Given the description of an element on the screen output the (x, y) to click on. 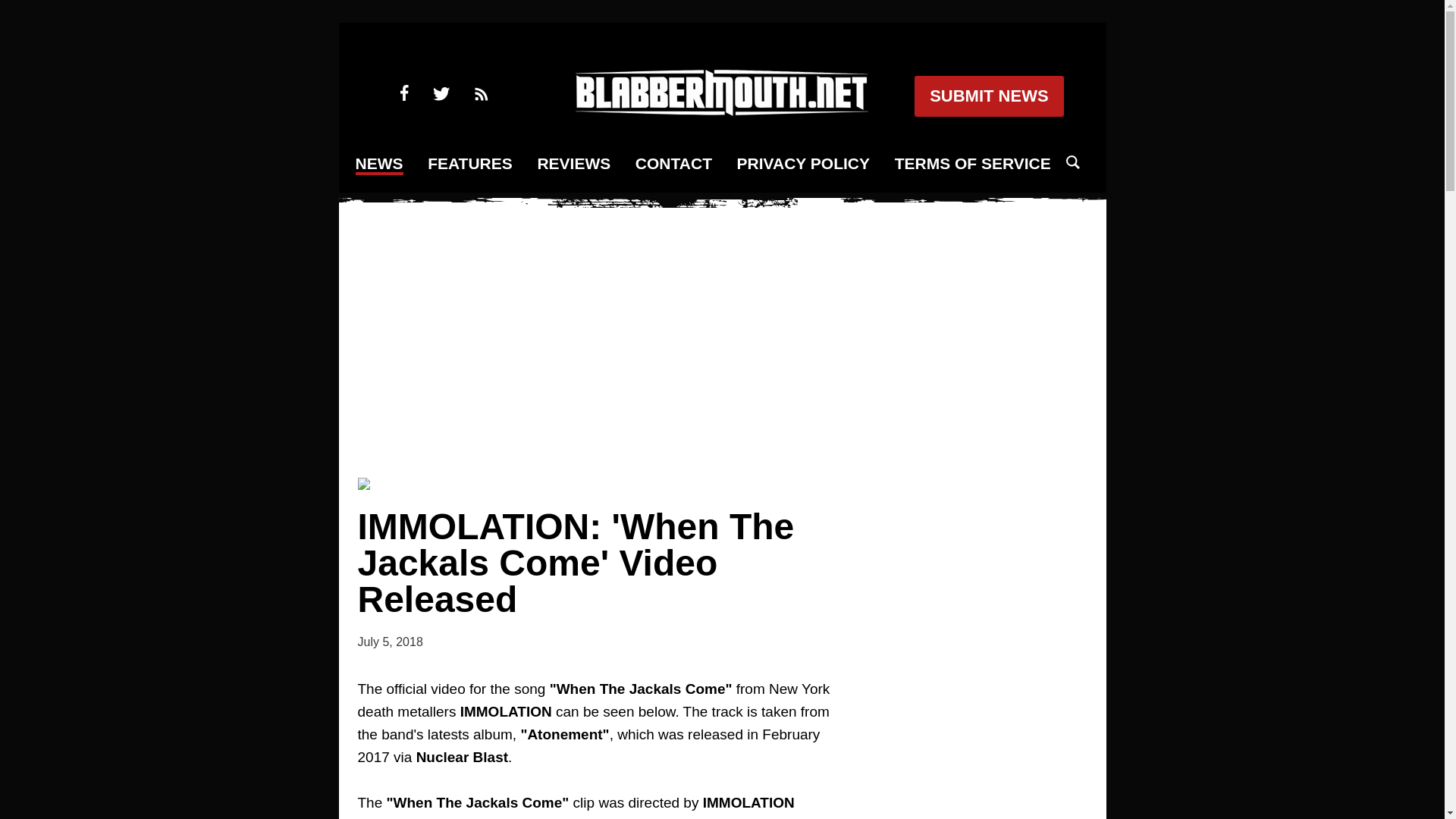
SUBMIT NEWS (988, 96)
PRIVACY POLICY (802, 163)
FEATURES (470, 163)
blabbermouth (721, 110)
TERMS OF SERVICE (973, 163)
REVIEWS (573, 163)
CONTACT (672, 163)
NEWS (379, 164)
search icon (1072, 161)
